Given the description of an element on the screen output the (x, y) to click on. 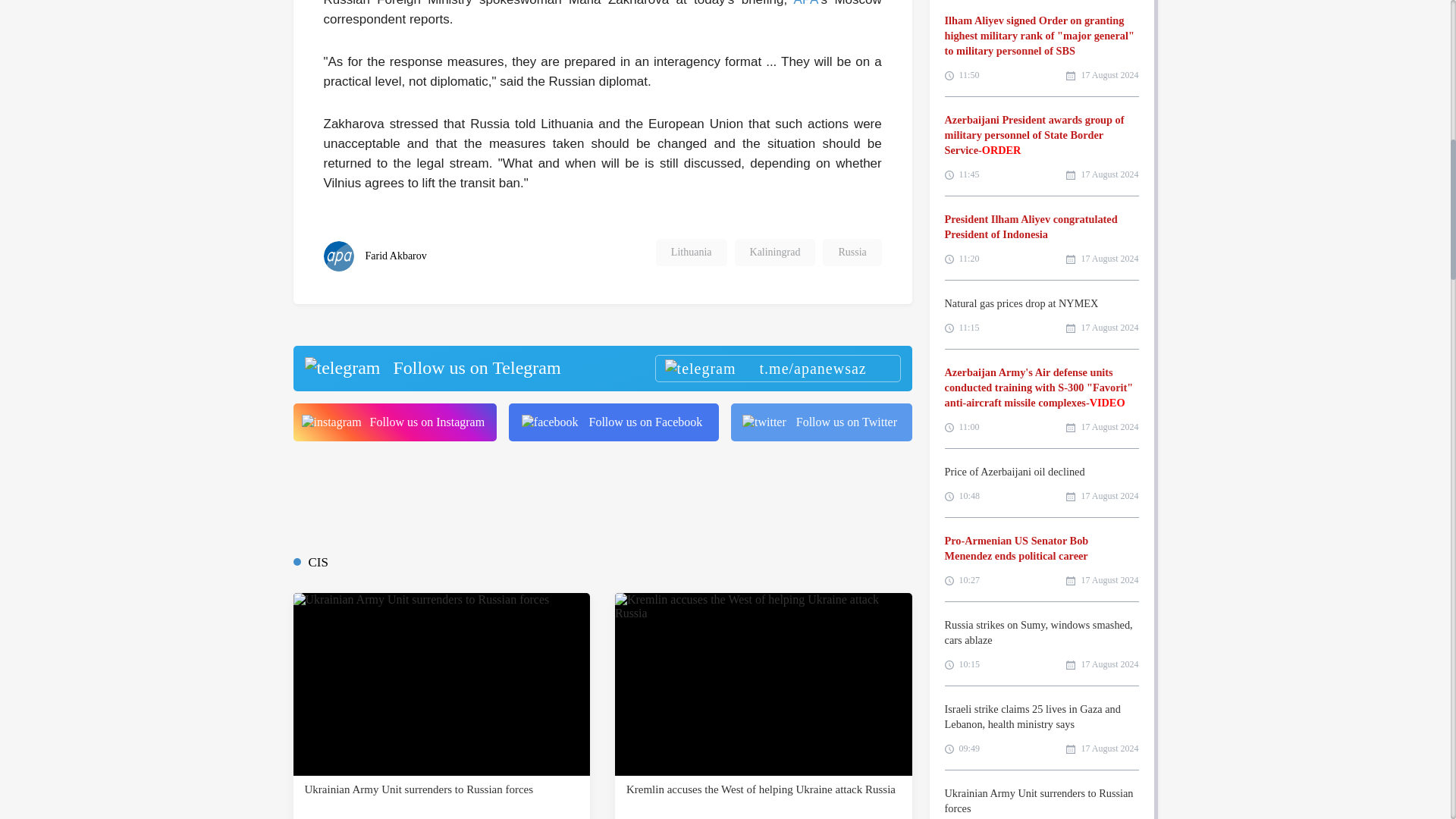
Follow us on Facebook (613, 422)
Follow us on Instagram (394, 422)
Follow us on Twitter (821, 422)
Follow us on Telegram (601, 368)
